Given the description of an element on the screen output the (x, y) to click on. 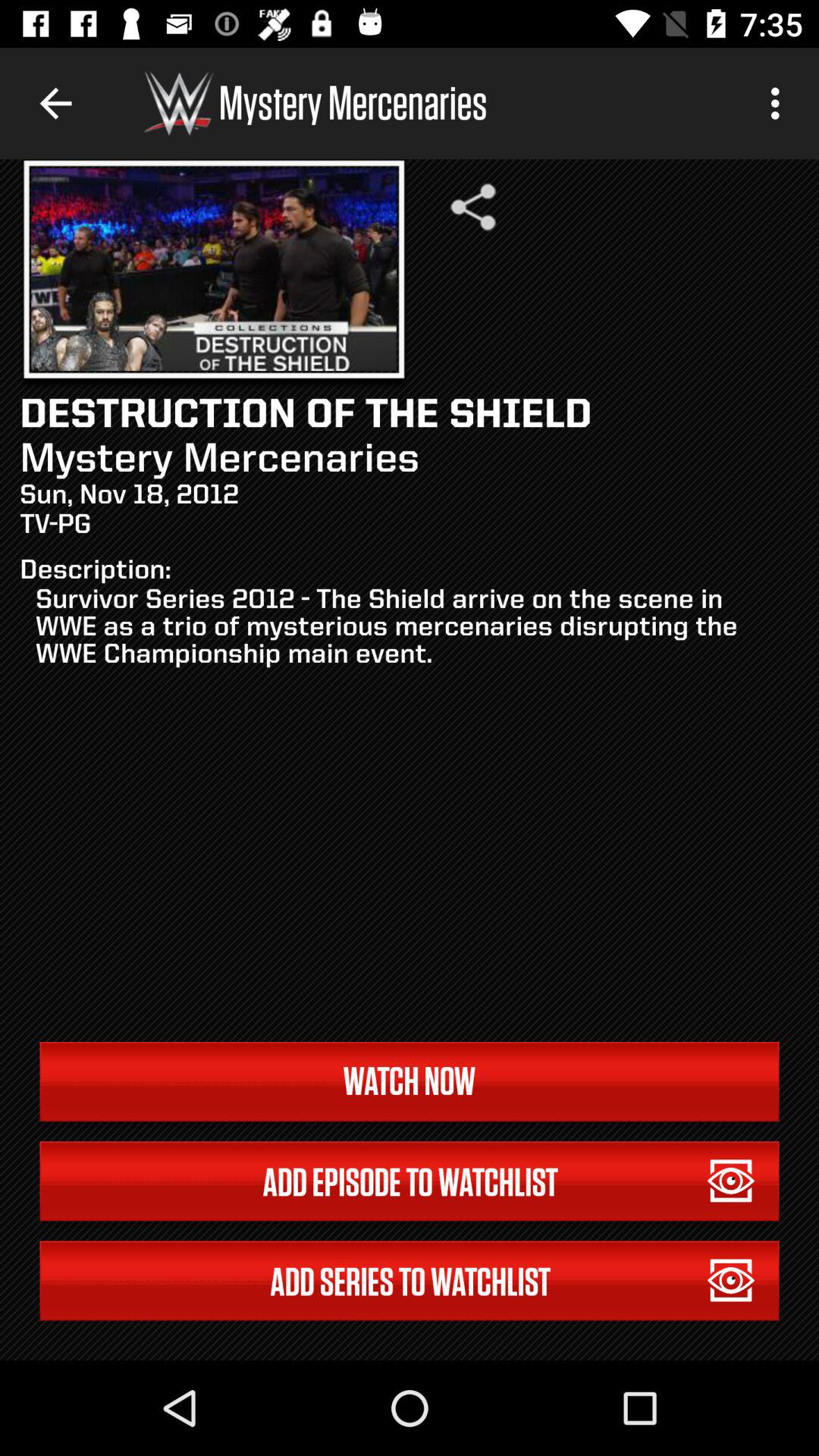
share option (472, 206)
